Given the description of an element on the screen output the (x, y) to click on. 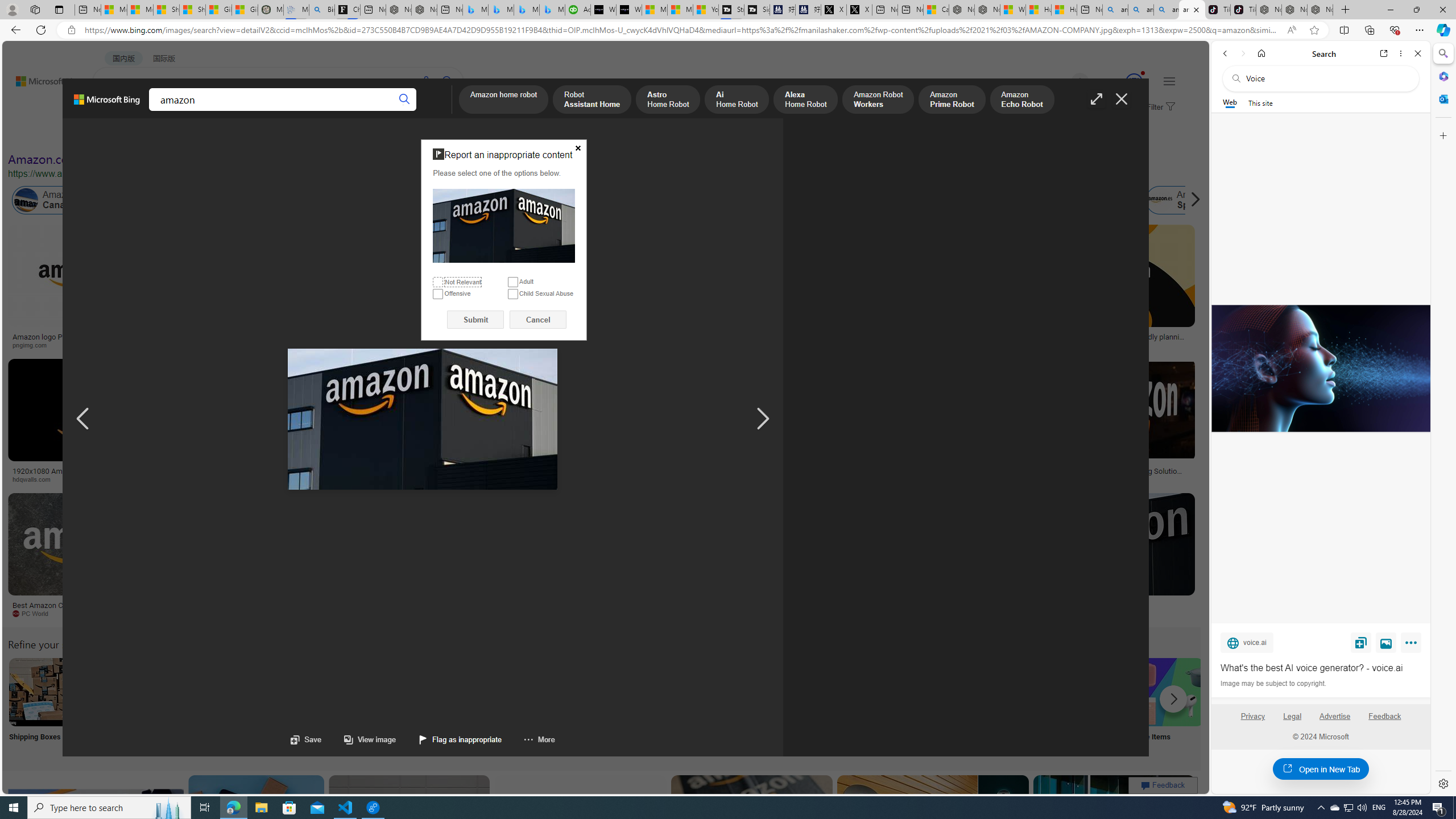
mobilemarketingmagazine.com (1054, 479)
Amazon Logo (PNG e SVG) Download Vetorial Transparente (783, 340)
Amazon Cloud (320, 200)
3d illustration of amazon logo 18779928 PNG (939, 474)
Amazon Package Delivery Package Delivery (418, 706)
PC World (34, 612)
Shipping Boxes (42, 706)
Amazon Prime Shopping Online (944, 691)
Amazon.com. Spend less. Smile more. (110, 158)
People (295, 135)
